Given the description of an element on the screen output the (x, y) to click on. 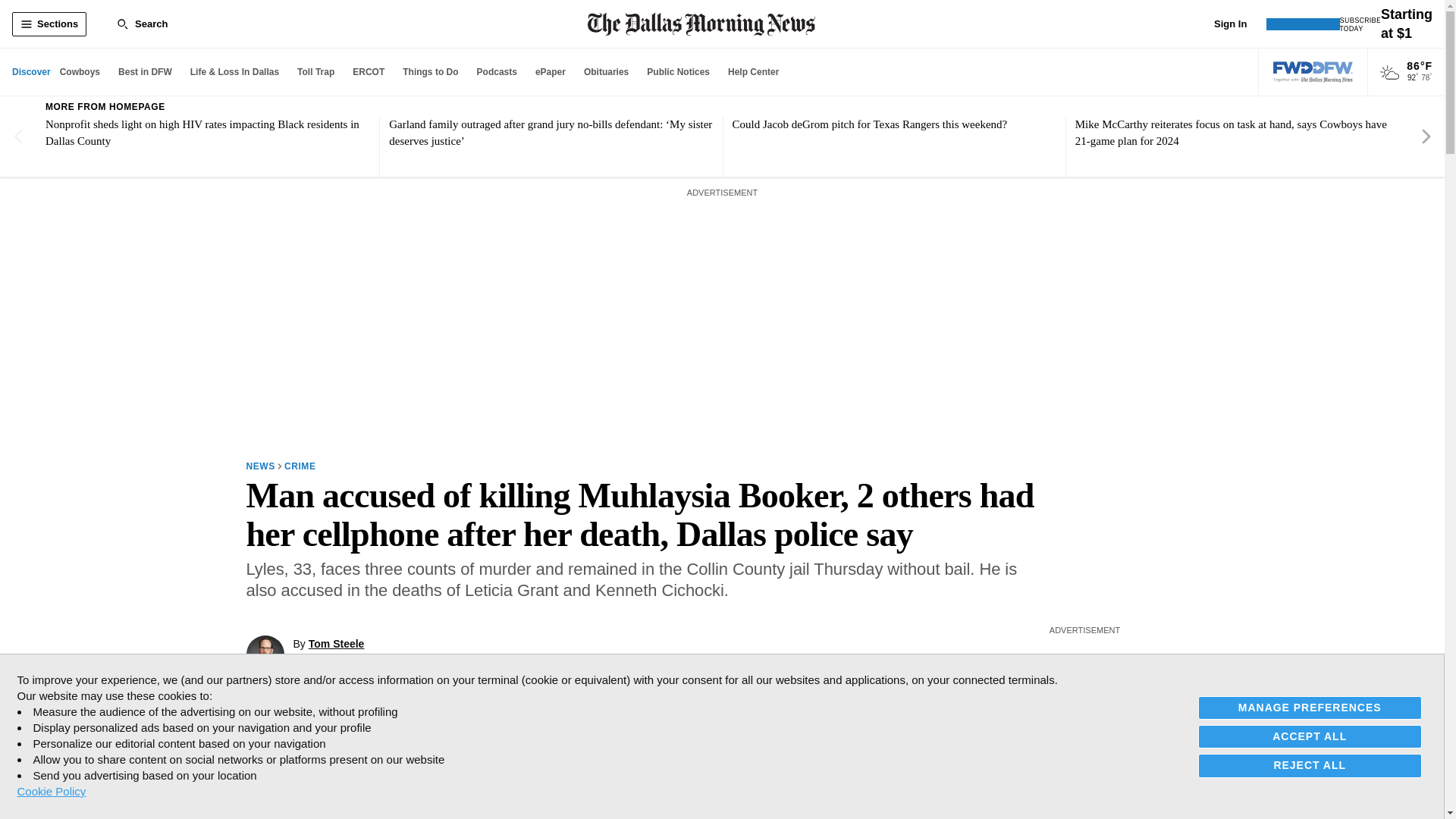
FWD DFW, Together with The Dallas Morning News (1313, 72)
Cookie Policy (50, 790)
REJECT ALL (1310, 765)
ACCEPT ALL (1310, 736)
Scattered clouds (1389, 72)
MANAGE PREFERENCES (1310, 707)
